Given the description of an element on the screen output the (x, y) to click on. 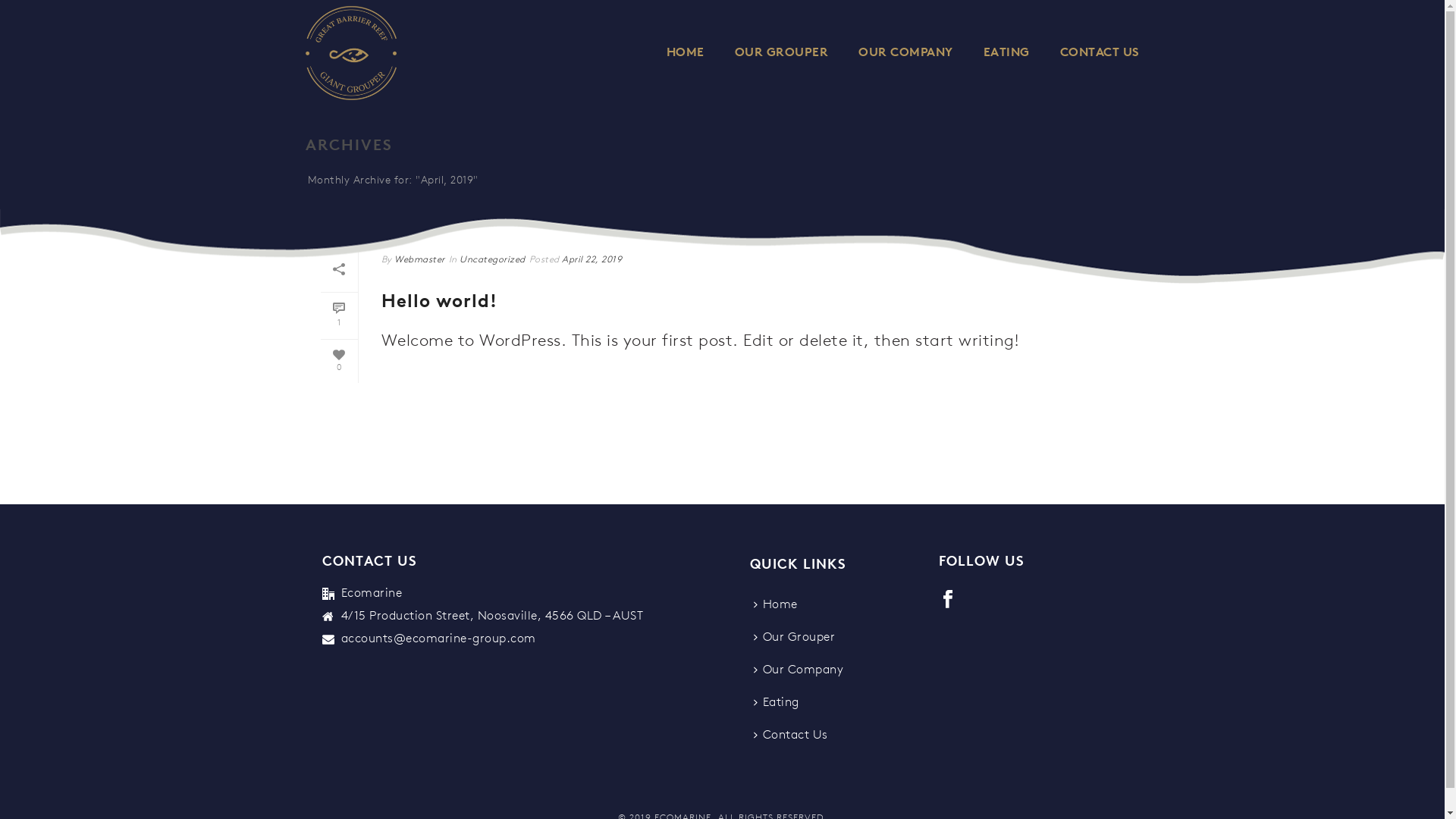
Uncategorized Element type: text (492, 259)
Eating Element type: text (779, 703)
Our Grouper Element type: text (798, 637)
OUR GROUPER Element type: text (780, 52)
HOME Element type: text (684, 52)
Home Element type: text (779, 604)
Contact Us Element type: text (794, 734)
OUR COMPANY Element type: text (905, 52)
Webmaster Element type: text (419, 259)
April 22, 2019 Element type: text (591, 259)
Our Company Element type: text (802, 669)
EATING Element type: text (1005, 52)
Follow Us on facebook Element type: hover (947, 600)
CONTACT US Element type: text (1099, 52)
0 Element type: text (338, 359)
1 Element type: text (338, 315)
Australian Prime Seafood Element type: hover (349, 53)
Hello world! Element type: text (438, 302)
READ MORE Element type: text (436, 388)
accounts@ecomarine-group.com Element type: text (438, 639)
